Given the description of an element on the screen output the (x, y) to click on. 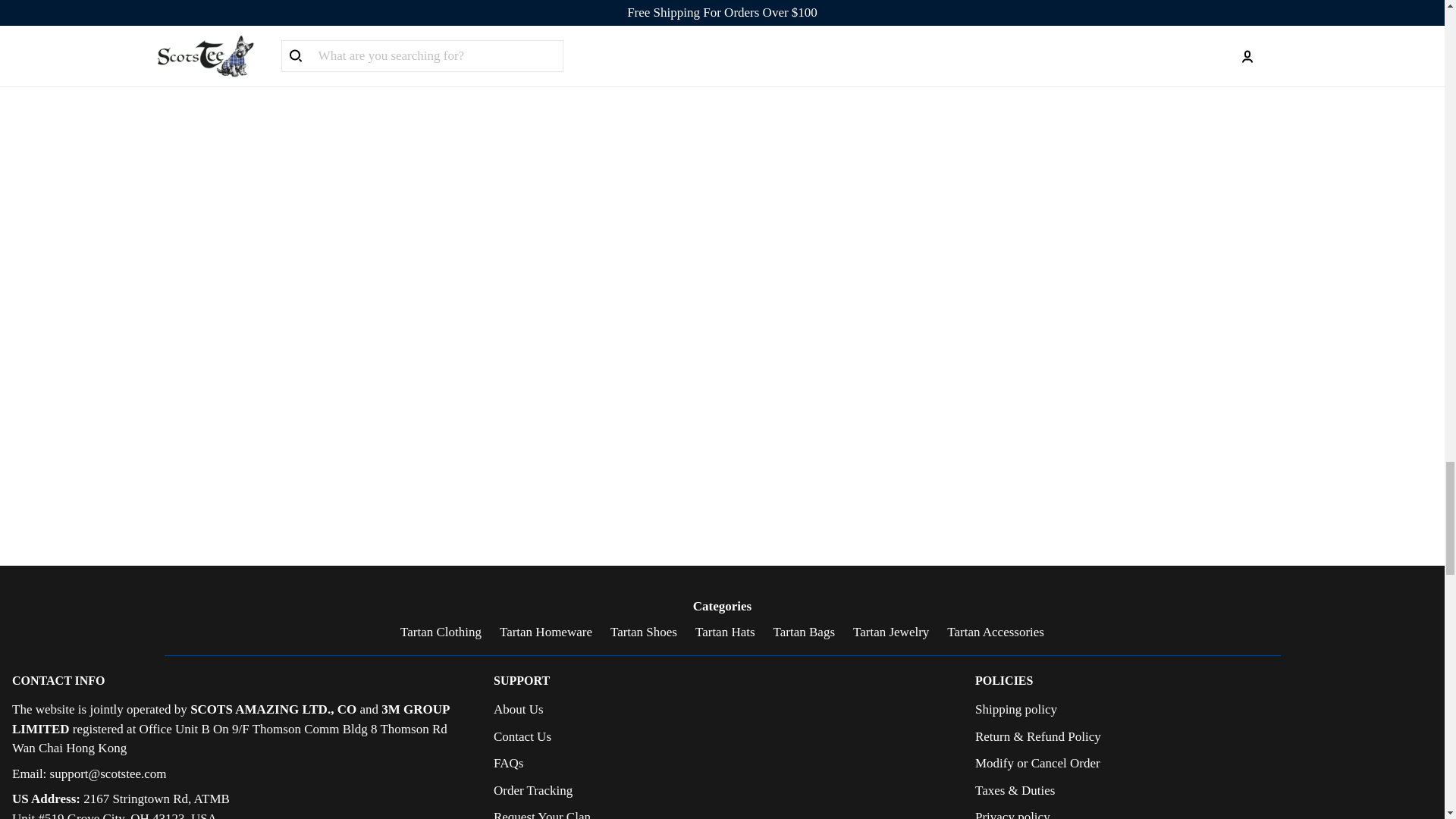
Tartan Shoes (643, 631)
Tartan Bags (803, 631)
About Us (518, 708)
Tartan Jewelry (890, 631)
Tartan Hats (725, 631)
Tartan Clothing (440, 631)
Tartan Homeware (545, 631)
Tartan Accessories (995, 631)
